Given the description of an element on the screen output the (x, y) to click on. 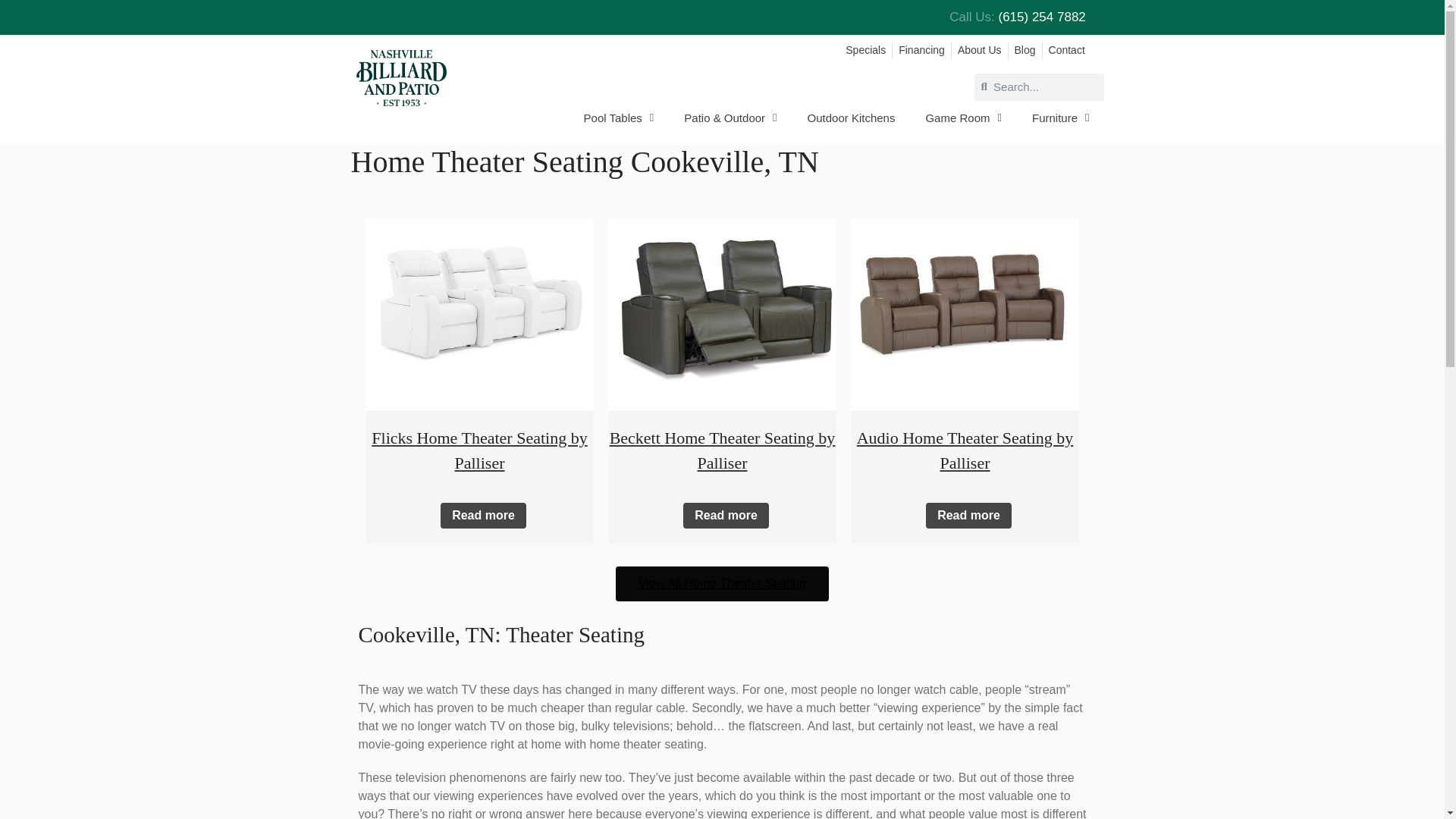
Audio Home Theater Seating by Palliser Home Theater Seating (964, 306)
Flicks Home Theater Seating by Palliser Home Theater Seating (479, 306)
